Given the description of an element on the screen output the (x, y) to click on. 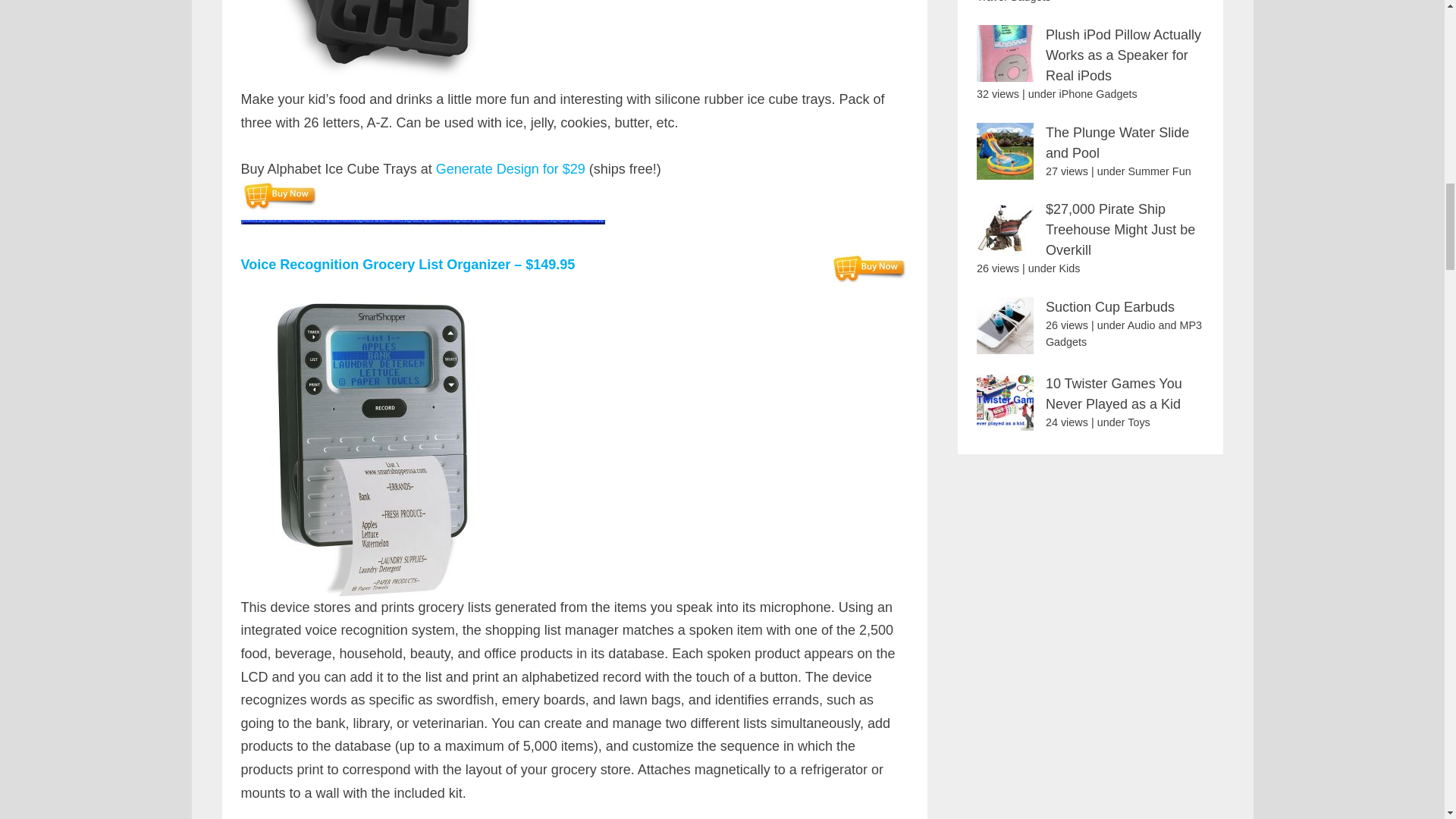
buy now (279, 194)
alphabet ice (386, 43)
